Given the description of an element on the screen output the (x, y) to click on. 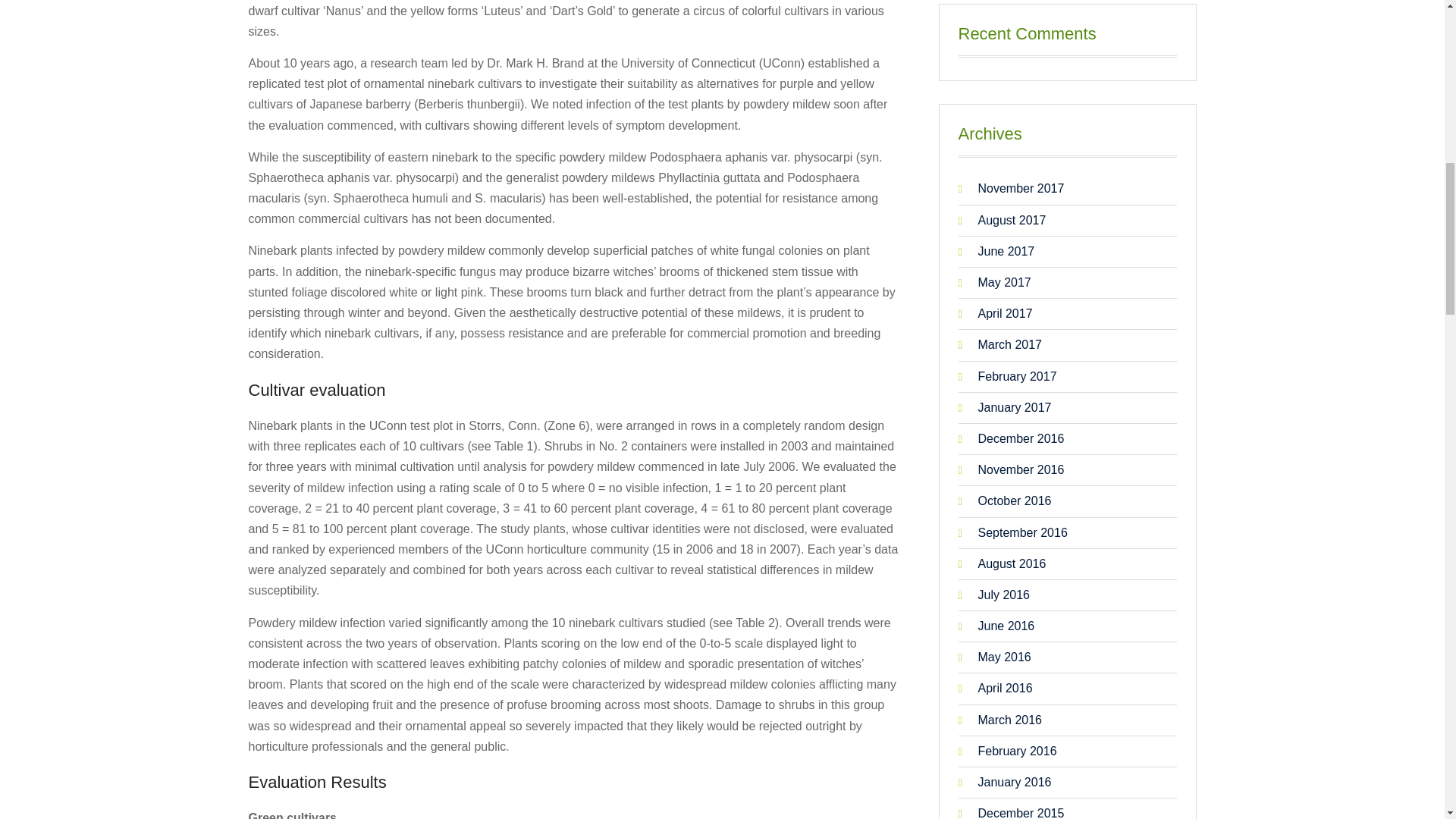
December 2016 (1064, 438)
May 2017 (1064, 281)
April 2016 (1064, 688)
October 2016 (1064, 500)
July 2016 (1064, 594)
April 2017 (1064, 313)
September 2016 (1064, 531)
February 2017 (1064, 376)
June 2017 (1064, 250)
November 2017 (1064, 188)
